Given the description of an element on the screen output the (x, y) to click on. 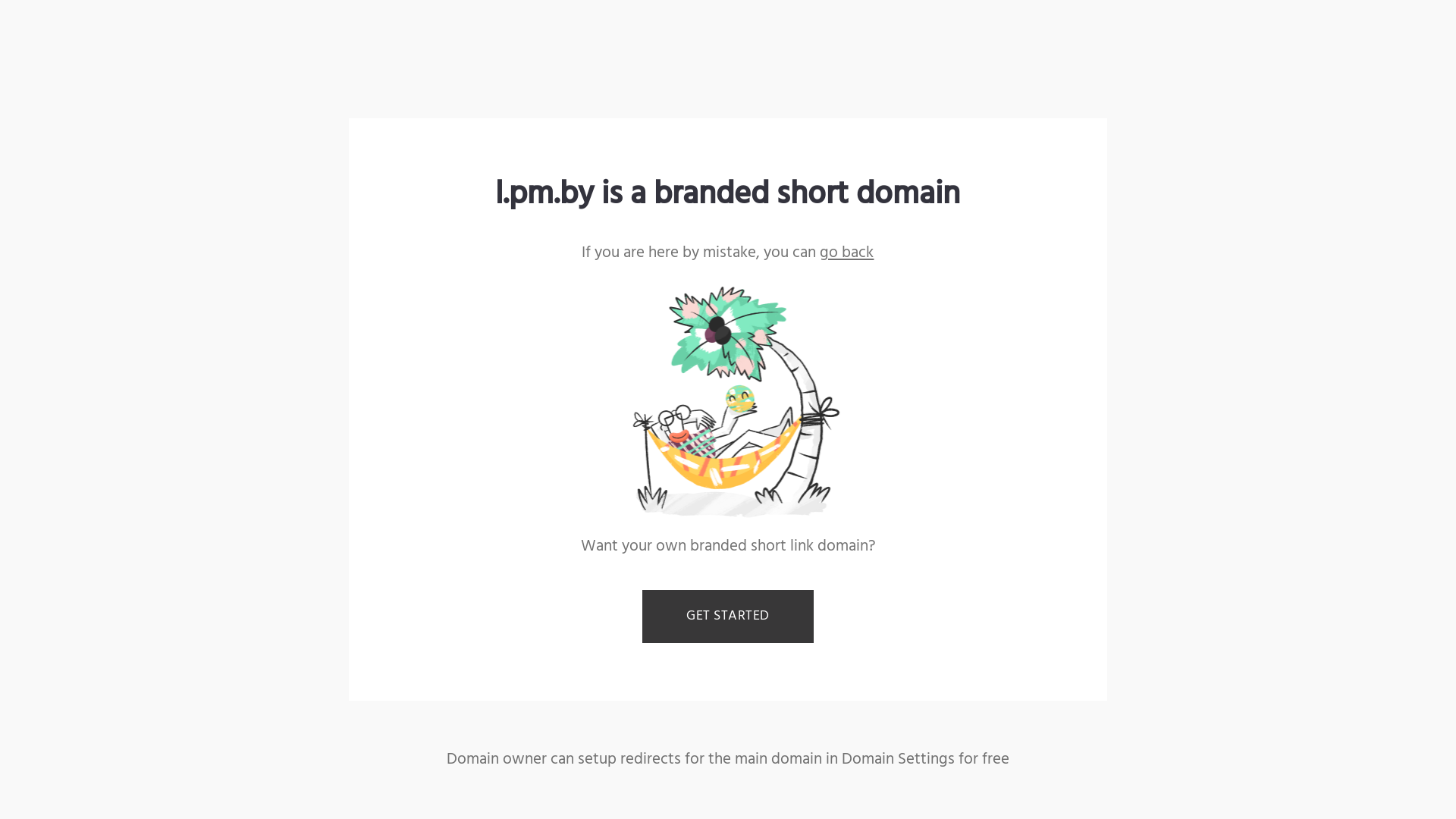
go back Element type: text (846, 252)
GET STARTED Element type: text (727, 616)
